Given the description of an element on the screen output the (x, y) to click on. 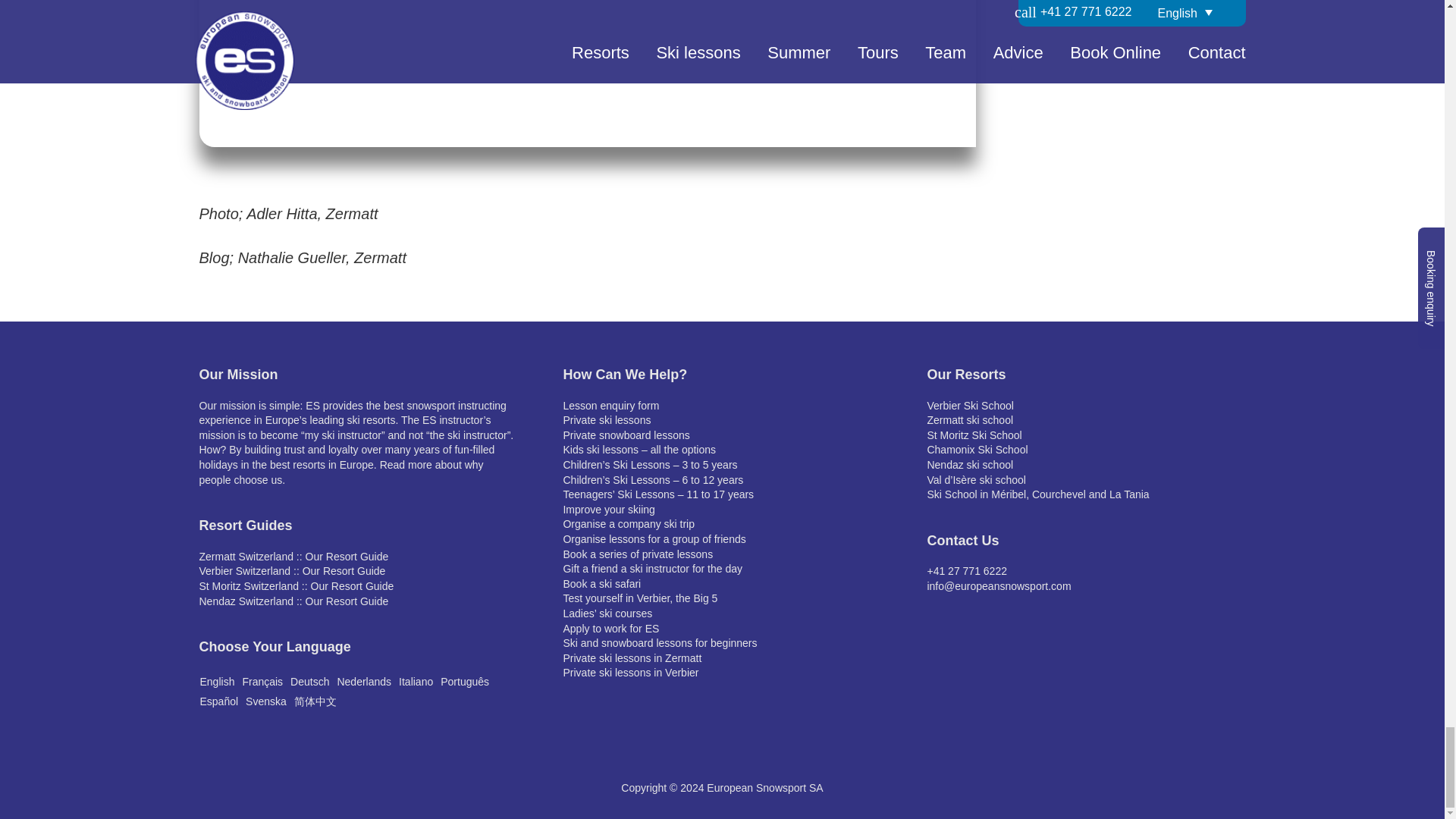
St Moritz Ski School (974, 435)
Zermatt Ski School (969, 419)
Nendaz Ski School (969, 464)
Verbier Ski School (969, 405)
